Given the description of an element on the screen output the (x, y) to click on. 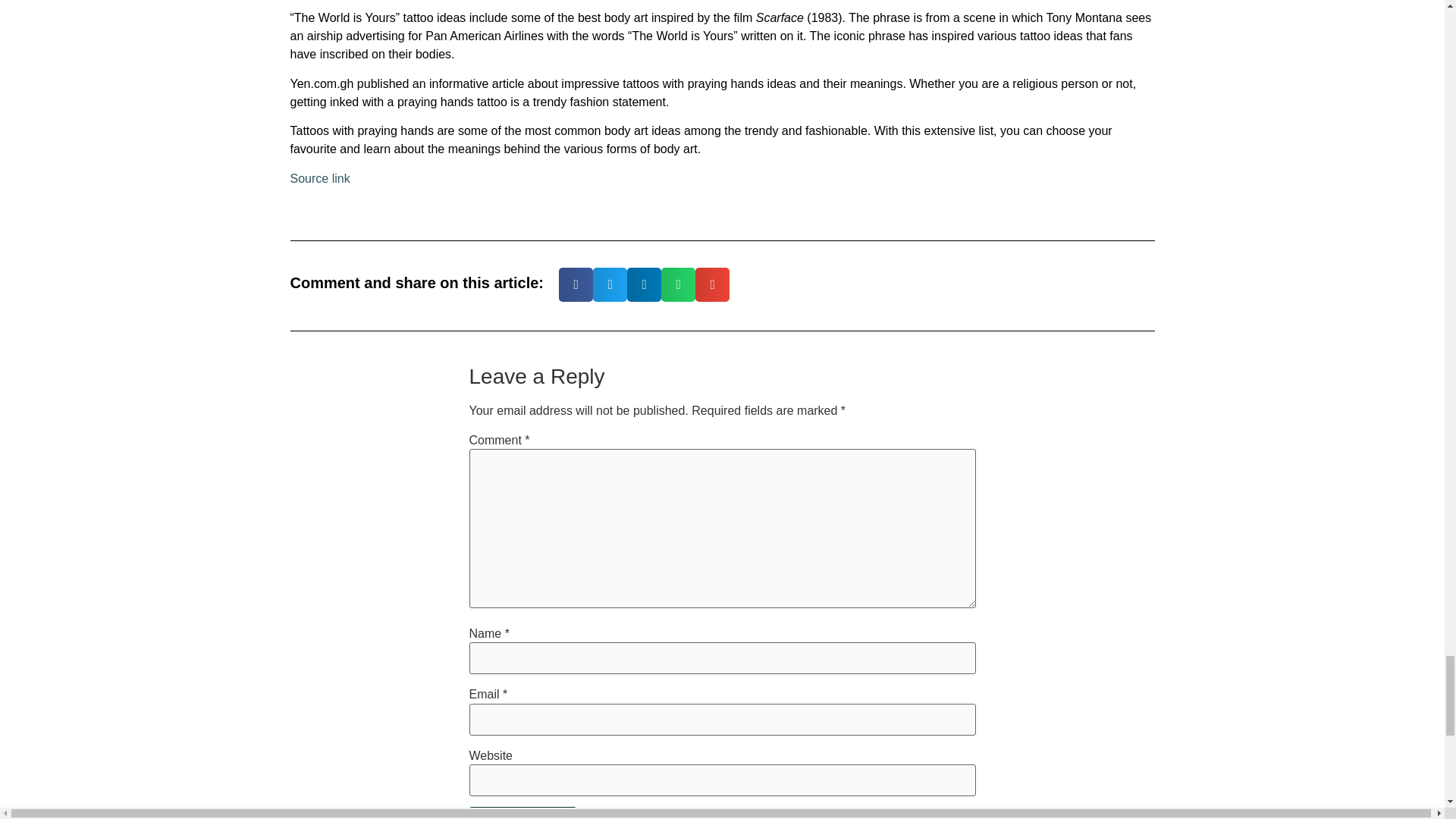
Post Comment (522, 812)
Source link (319, 178)
Post Comment (522, 812)
